Given the description of an element on the screen output the (x, y) to click on. 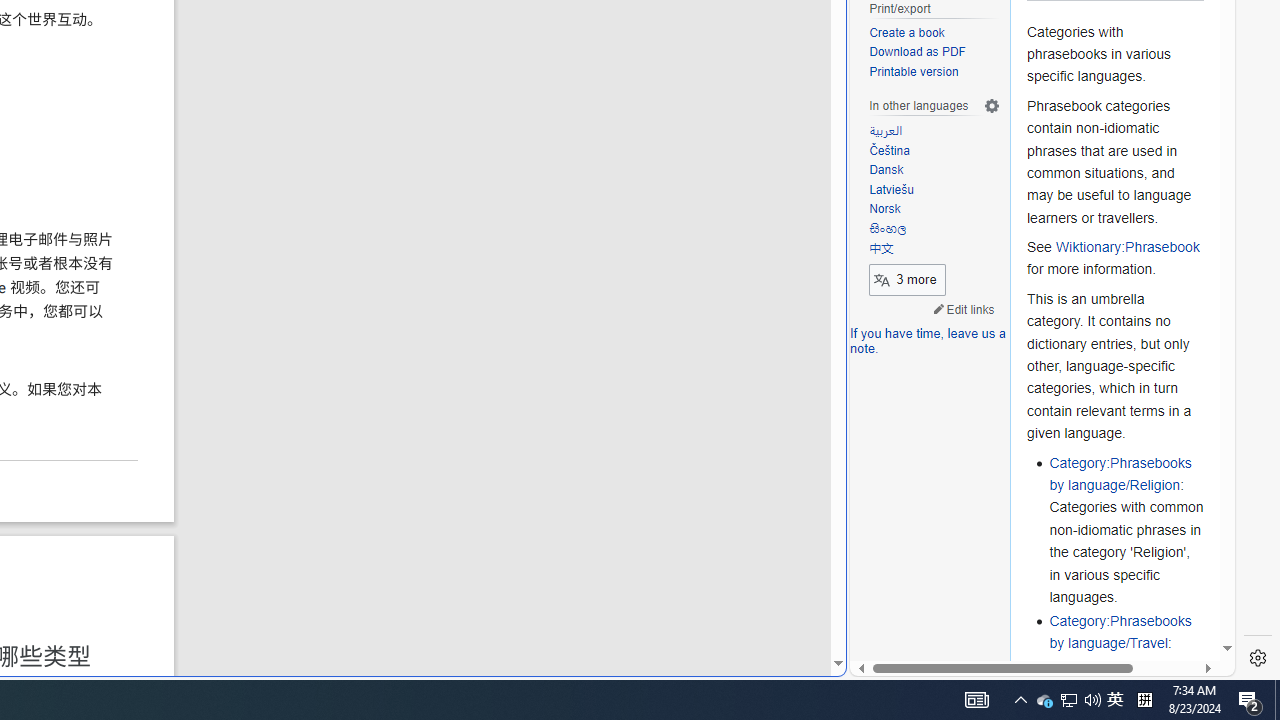
Create a book (906, 32)
Dansk (886, 169)
Printable version (913, 71)
If you have time, leave us a note. (927, 341)
Category:Phrasebooks by language/Travel (1120, 632)
